Given the description of an element on the screen output the (x, y) to click on. 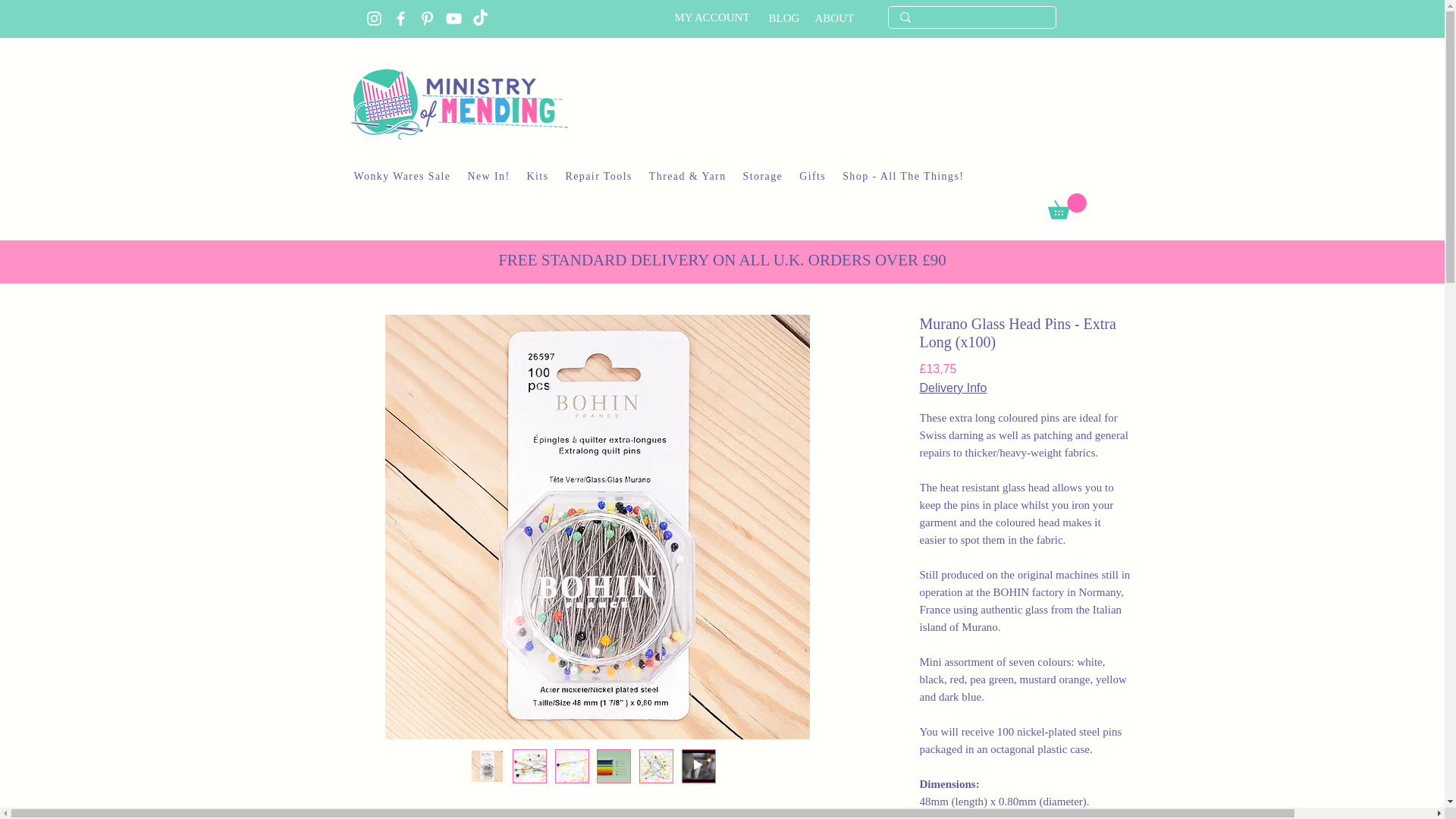
Kits (537, 176)
Gifts (812, 176)
MY ACCOUNT (712, 17)
ABOUT (833, 18)
New In! (488, 176)
BLOG (783, 18)
Storage (762, 176)
Repair Tools (598, 176)
Wonky Wares Sale (402, 176)
